Given the description of an element on the screen output the (x, y) to click on. 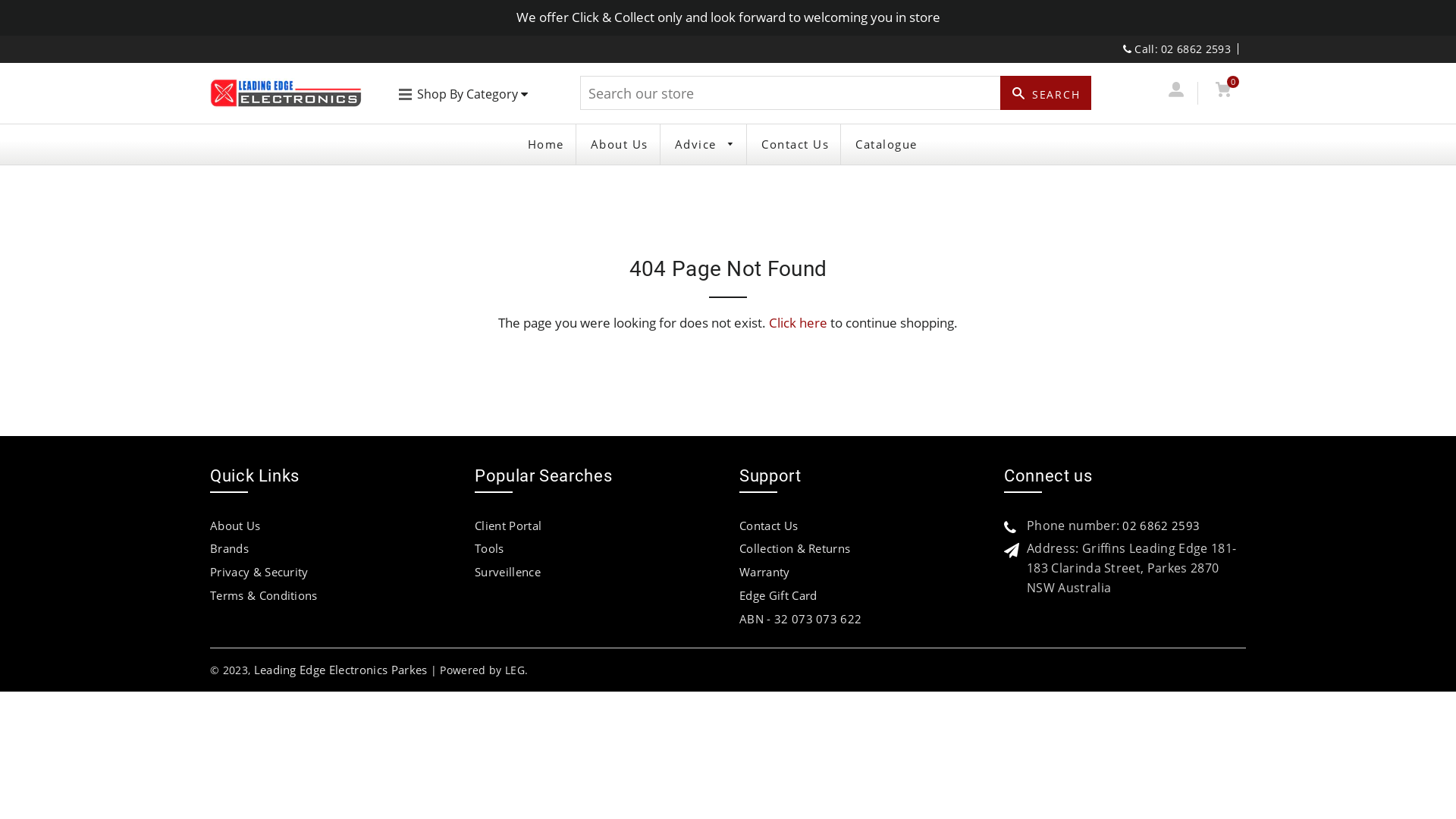
Leading Edge Electronics Parkes Element type: text (340, 669)
02 6862 2593 Element type: text (1160, 525)
Edge Gift Card Element type: text (777, 594)
Tools Element type: text (489, 547)
Collection & Returns Element type: text (794, 547)
Log In Element type: text (1175, 92)
SEARCH Element type: text (1045, 92)
Click here Element type: text (797, 322)
Client Portal Element type: text (507, 525)
Privacy & Security Element type: text (259, 571)
Catalogue Element type: text (886, 144)
Terms & Conditions Element type: text (263, 594)
Advice Element type: text (704, 144)
ABN - 32 073 073 622 Element type: text (800, 618)
Contact Us Element type: text (768, 525)
Brands Element type: text (229, 547)
Home Element type: text (544, 144)
Contact Us Element type: text (794, 144)
About Us Element type: text (619, 144)
Cart
0 Element type: text (1222, 92)
Call: 02 6862 2593 Element type: text (1176, 49)
Warranty Element type: text (764, 571)
About Us Element type: text (235, 525)
Surveillence Element type: text (507, 571)
